Given the description of an element on the screen output the (x, y) to click on. 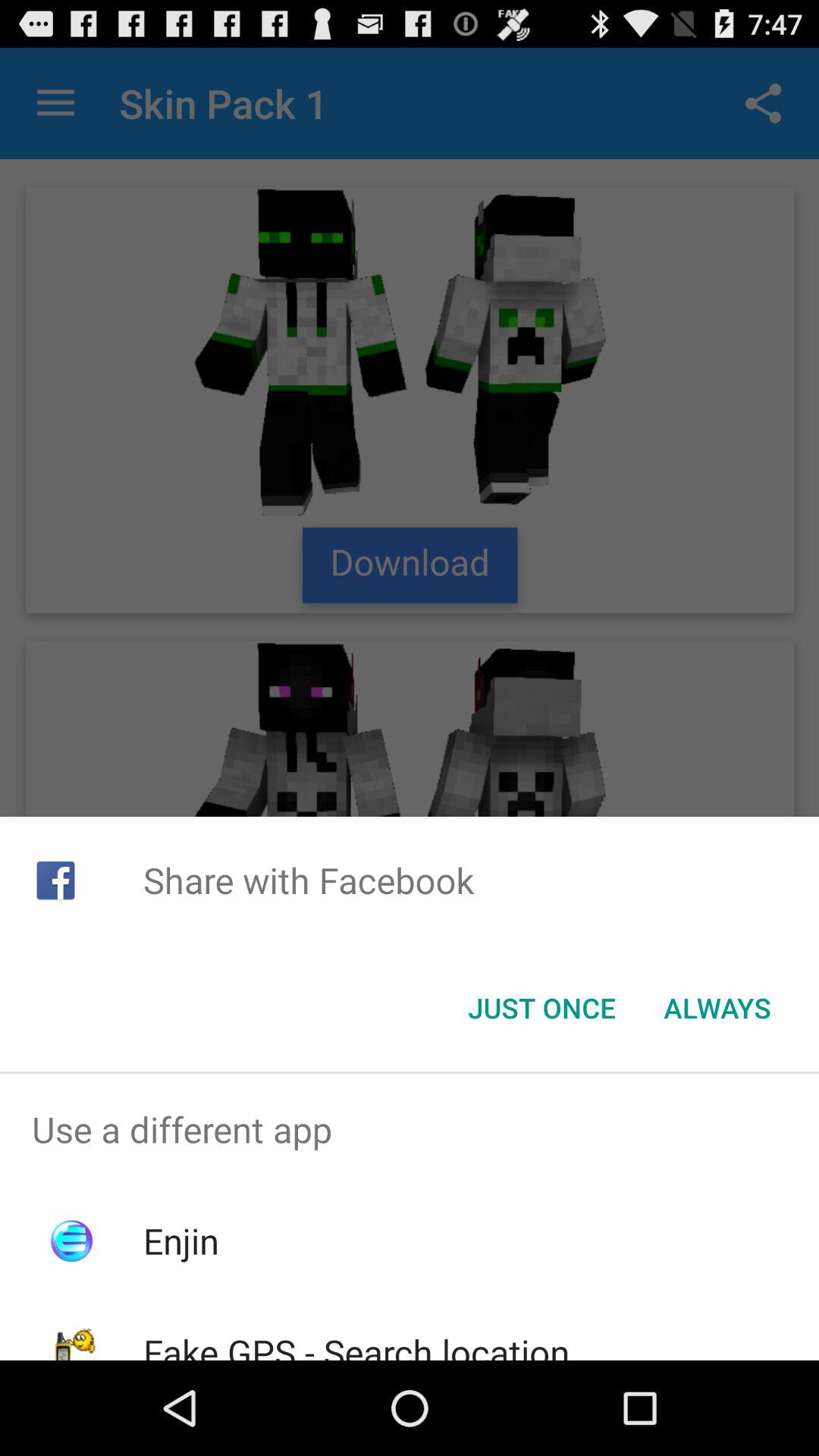
press the always (717, 1007)
